Given the description of an element on the screen output the (x, y) to click on. 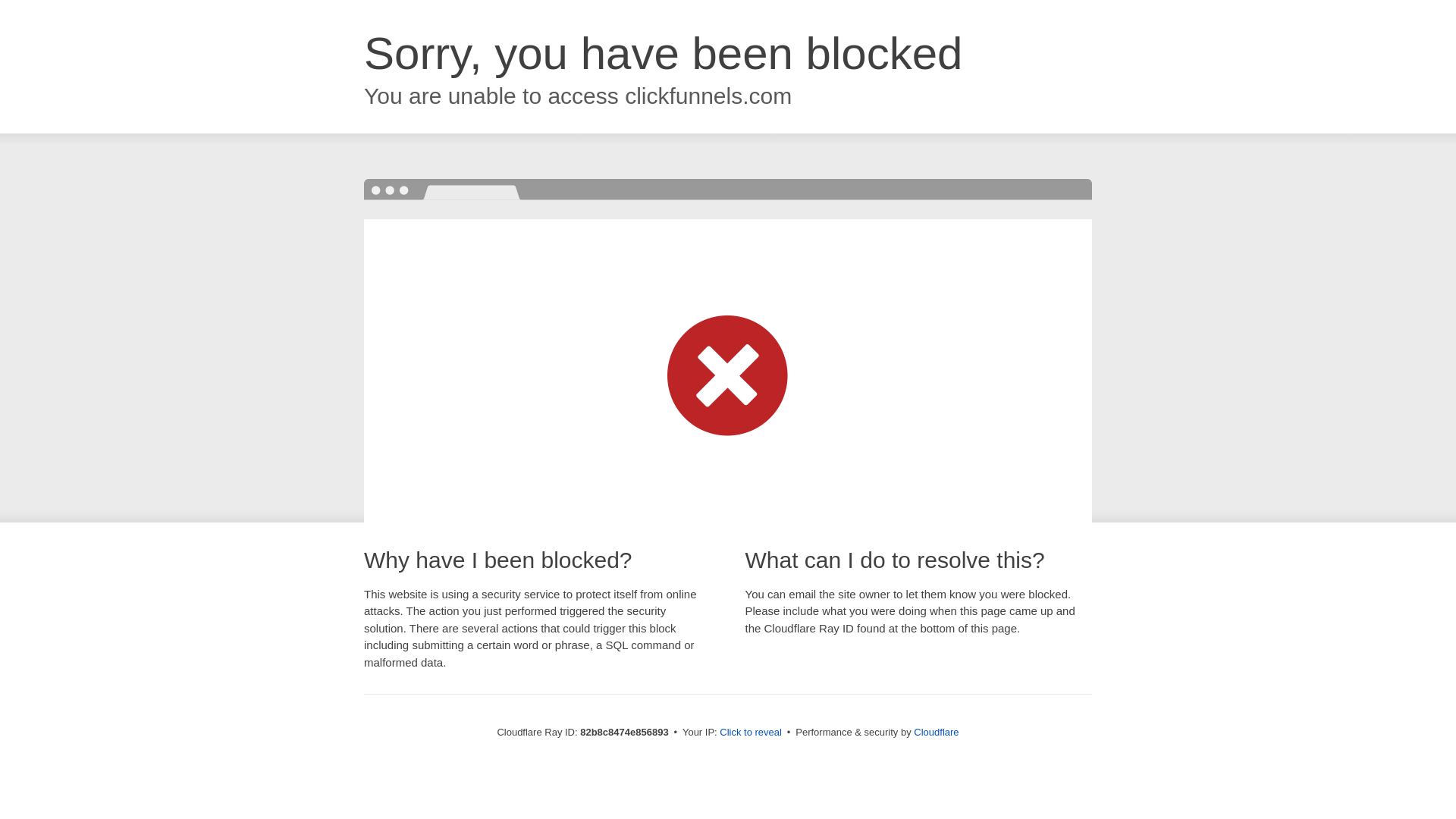
Click to reveal Element type: text (750, 732)
Cloudflare Element type: text (935, 731)
